Given the description of an element on the screen output the (x, y) to click on. 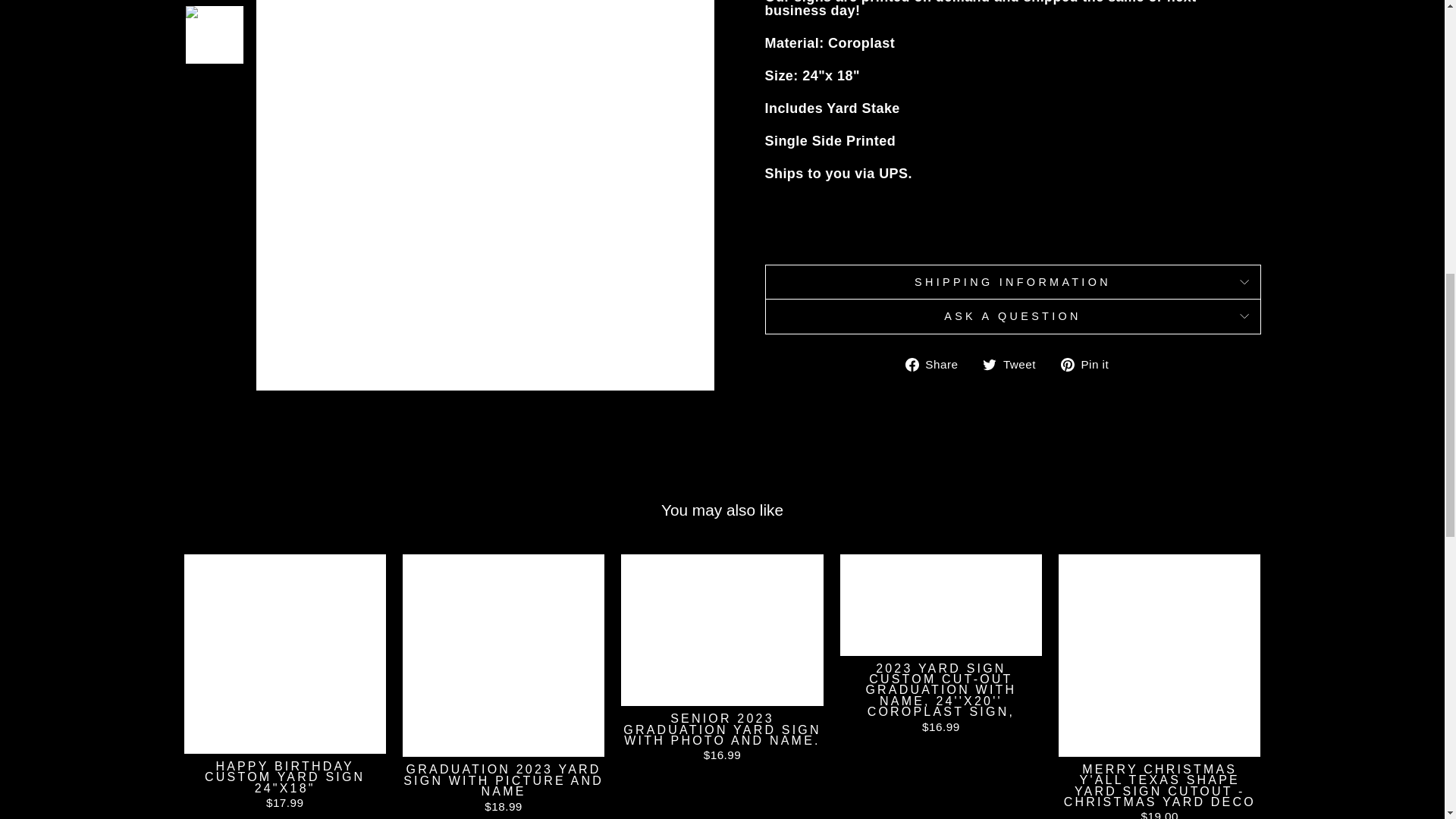
Tweet on Twitter (1014, 364)
SHIPPING INFORMATION (1014, 364)
Pin on Pinterest (1012, 281)
ASK A QUESTION (1090, 364)
Share on Facebook (1012, 315)
